Given the description of an element on the screen output the (x, y) to click on. 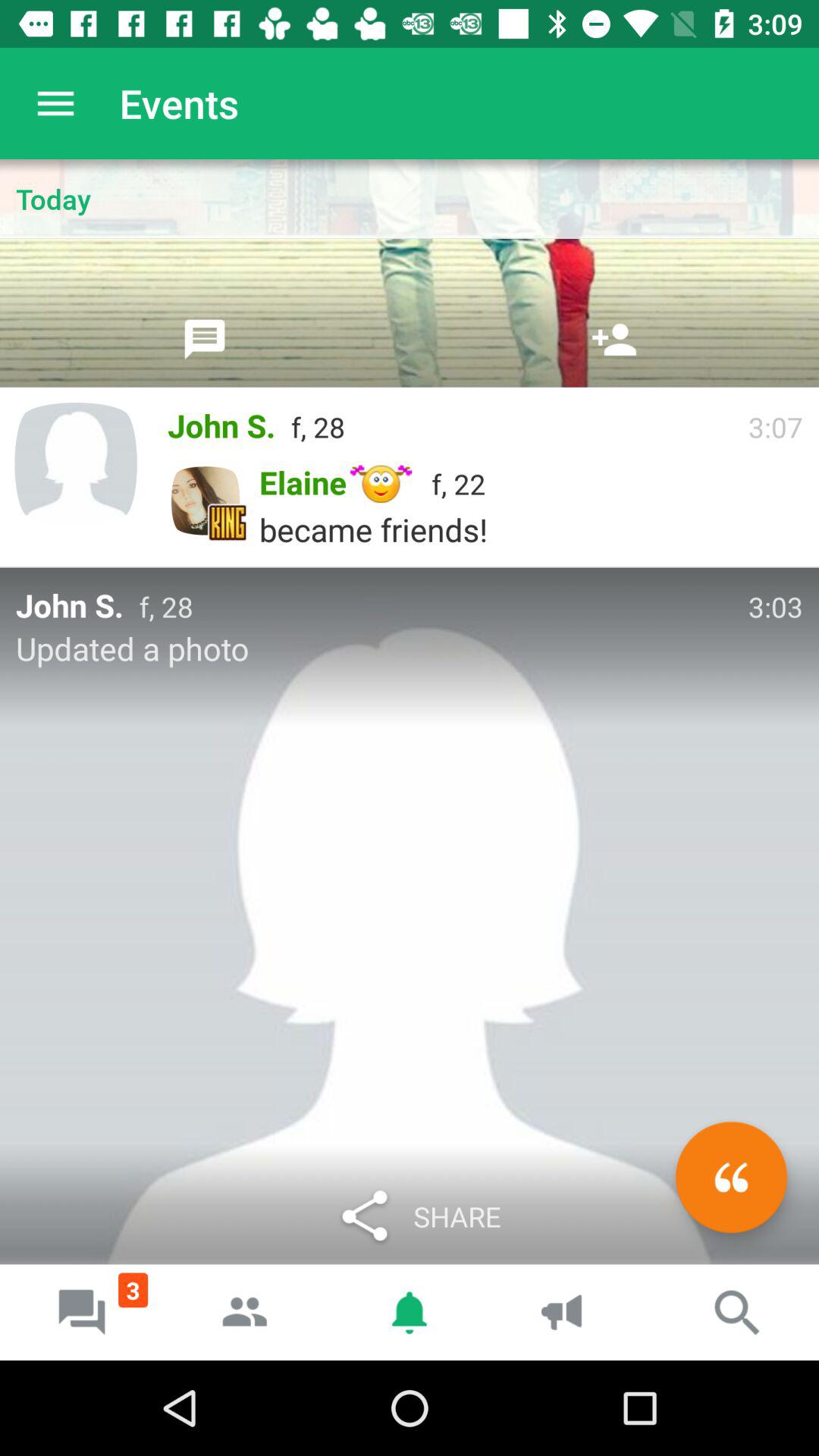
insert quotations (731, 1177)
